Given the description of an element on the screen output the (x, y) to click on. 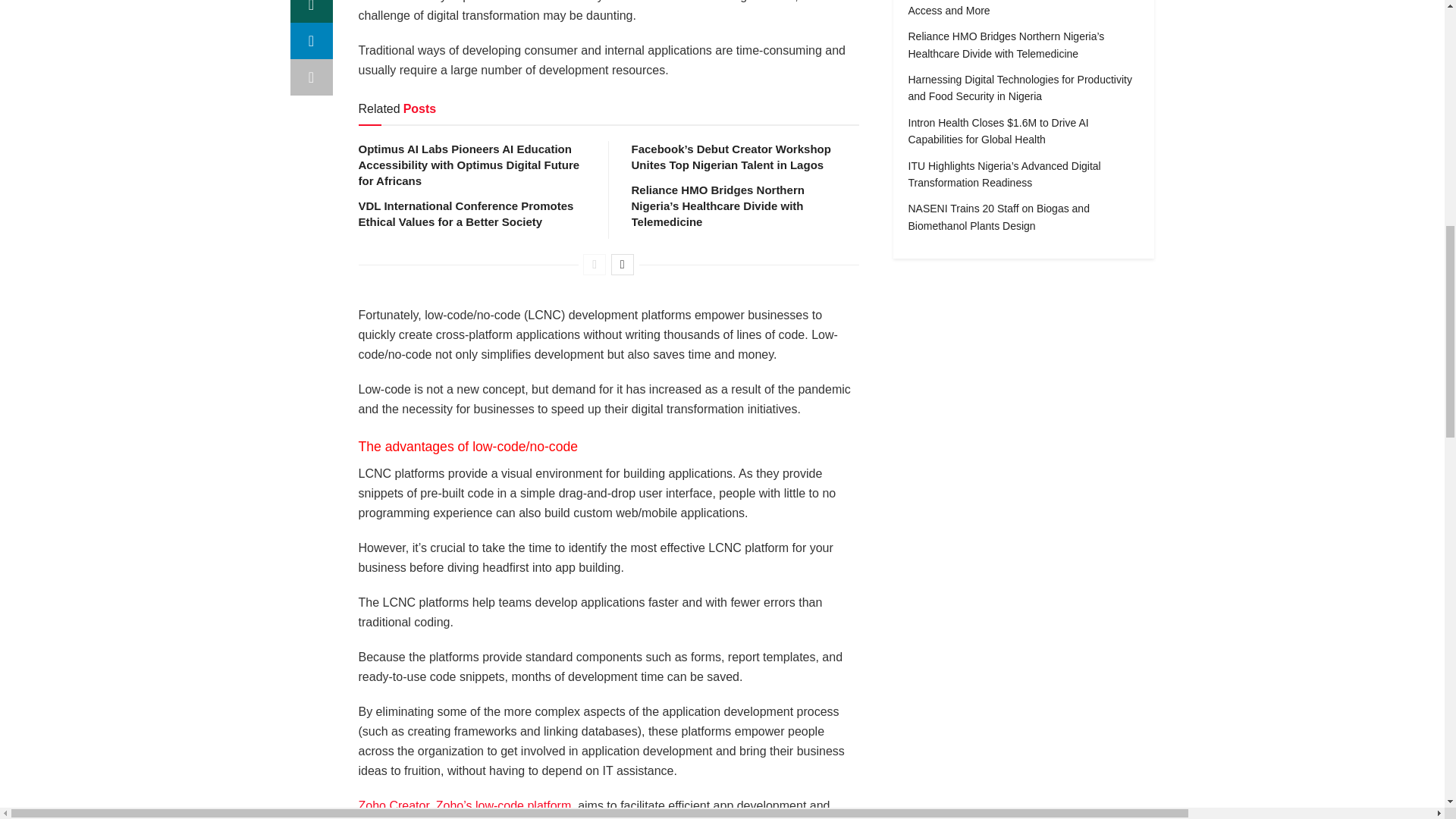
Next (622, 264)
Previous (594, 264)
